Given the description of an element on the screen output the (x, y) to click on. 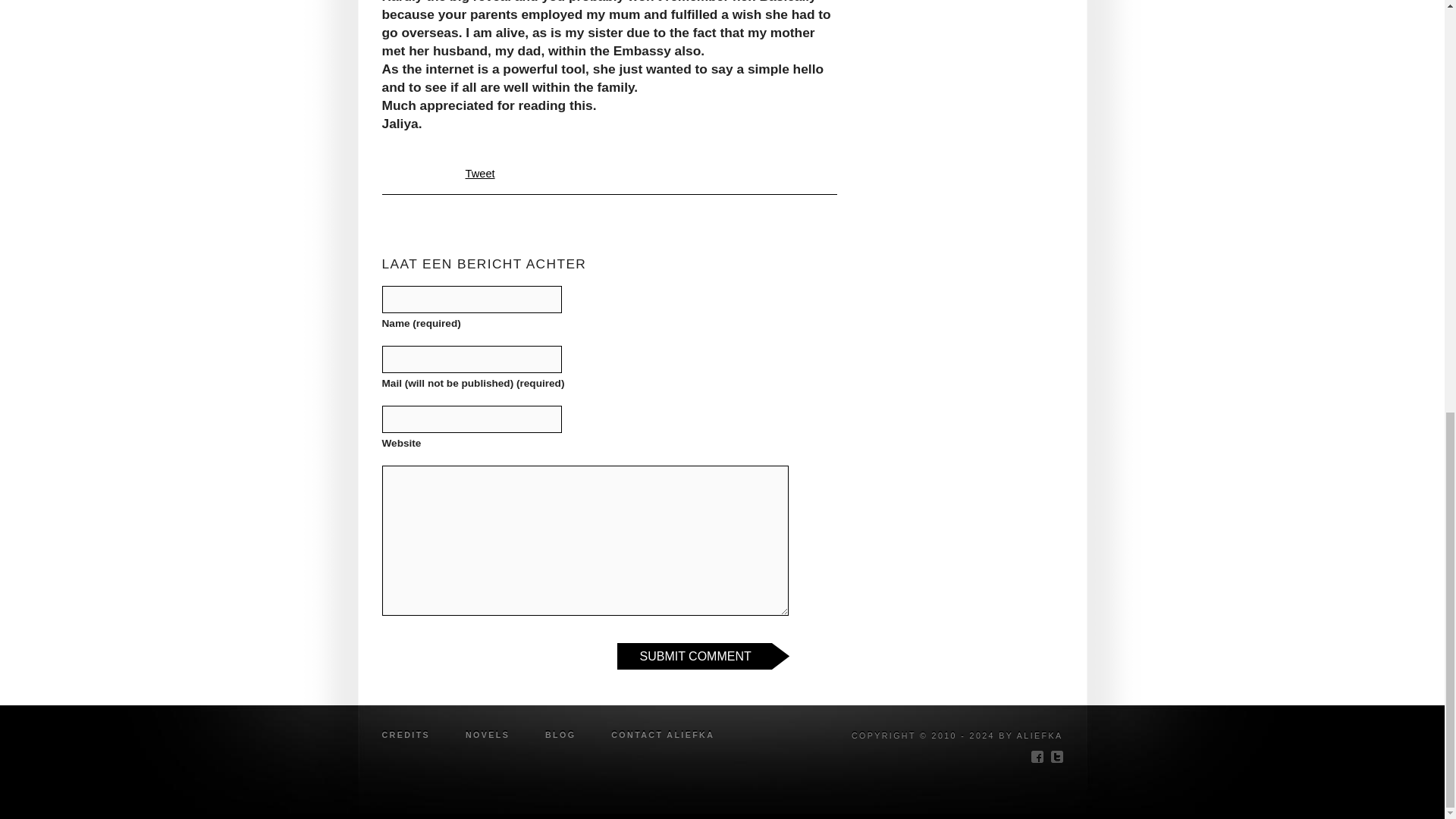
SUBMIT COMMENT (703, 655)
Tweet (480, 173)
